Given the description of an element on the screen output the (x, y) to click on. 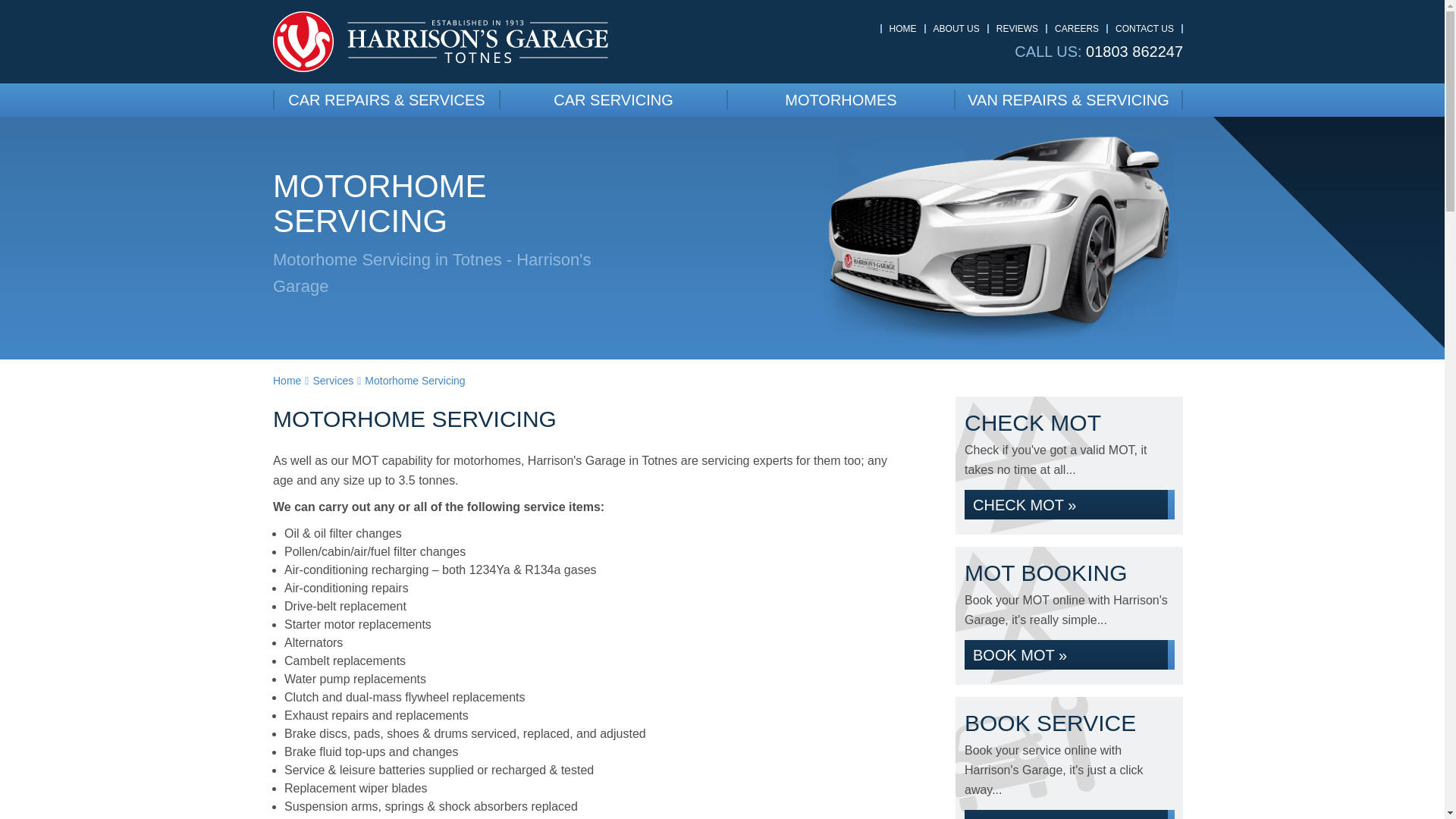
CONTACT US (1144, 28)
REVIEWS (1016, 28)
HOME (903, 28)
CALL US: 01803 862247 (1098, 51)
ABOUT US (956, 28)
CAR SERVICING (614, 99)
CAREERS (1076, 28)
